Given the description of an element on the screen output the (x, y) to click on. 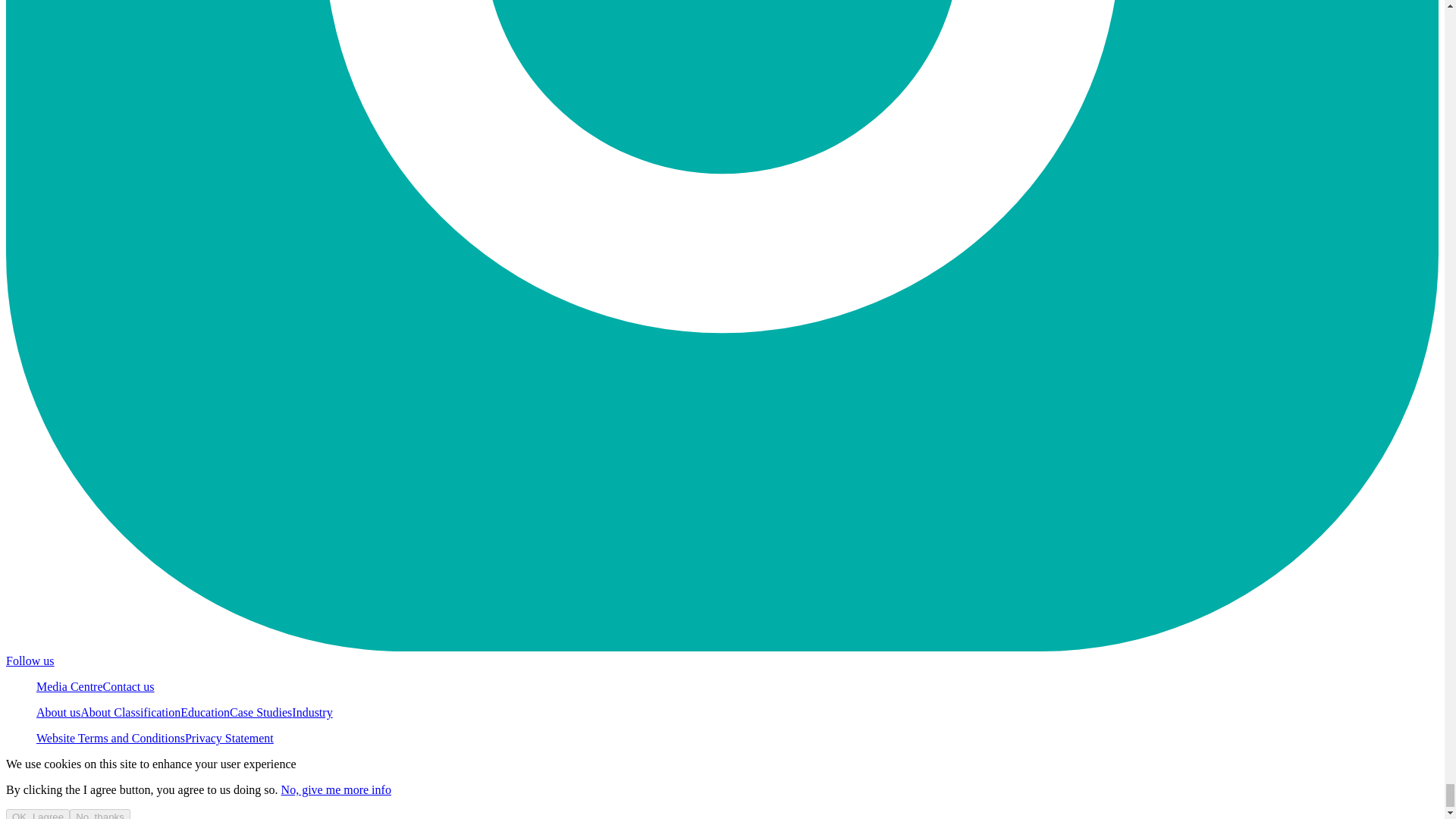
Privacy Statement (228, 738)
Industry (311, 712)
Contact us (128, 686)
Media Centre (69, 686)
No, give me more info (336, 789)
About us (58, 712)
About Classification (130, 712)
Website Terms and Conditions (110, 738)
Education (205, 712)
Case Studies (261, 712)
